Given the description of an element on the screen output the (x, y) to click on. 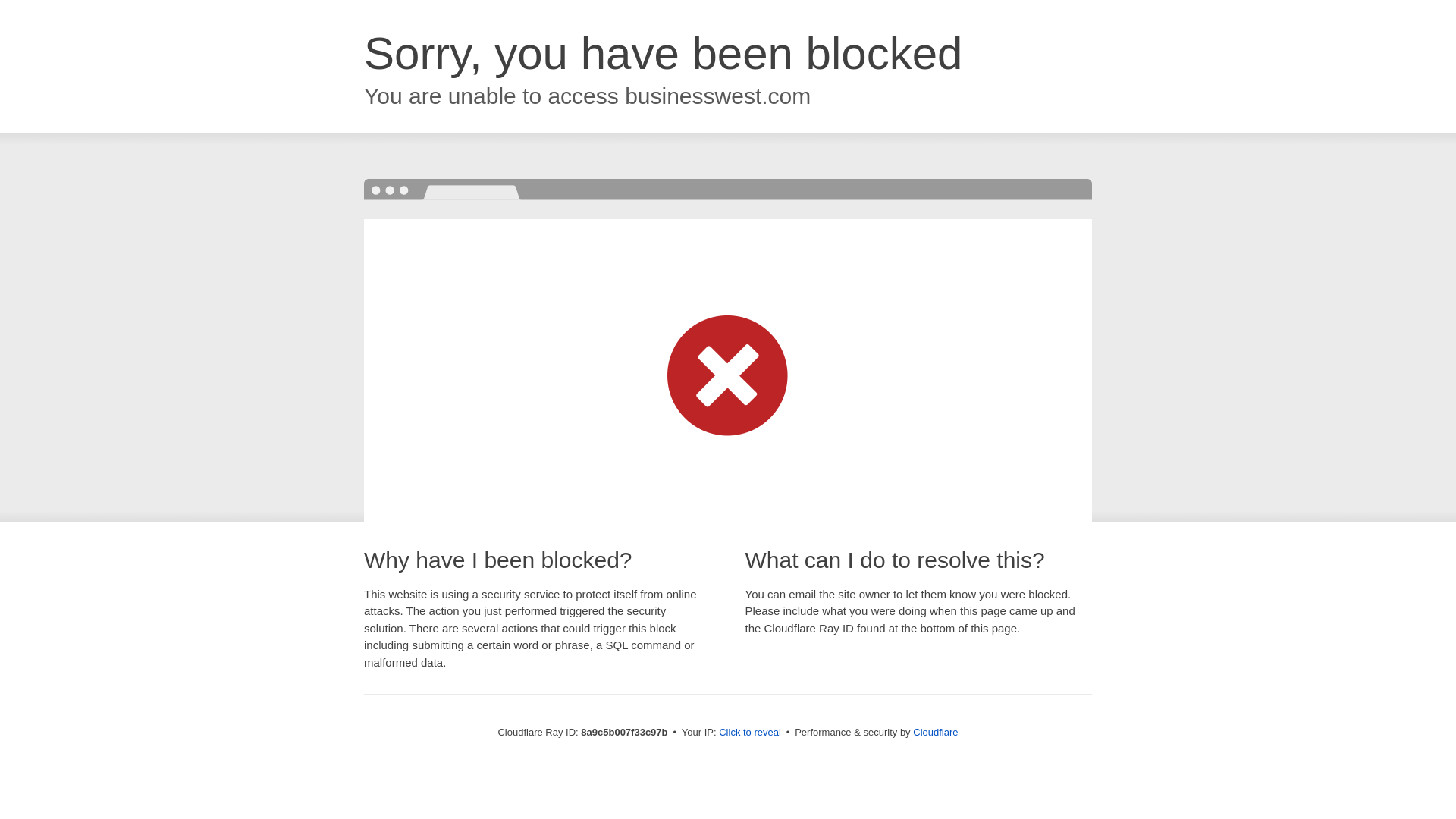
Click to reveal (749, 732)
Cloudflare (935, 731)
